Given the description of an element on the screen output the (x, y) to click on. 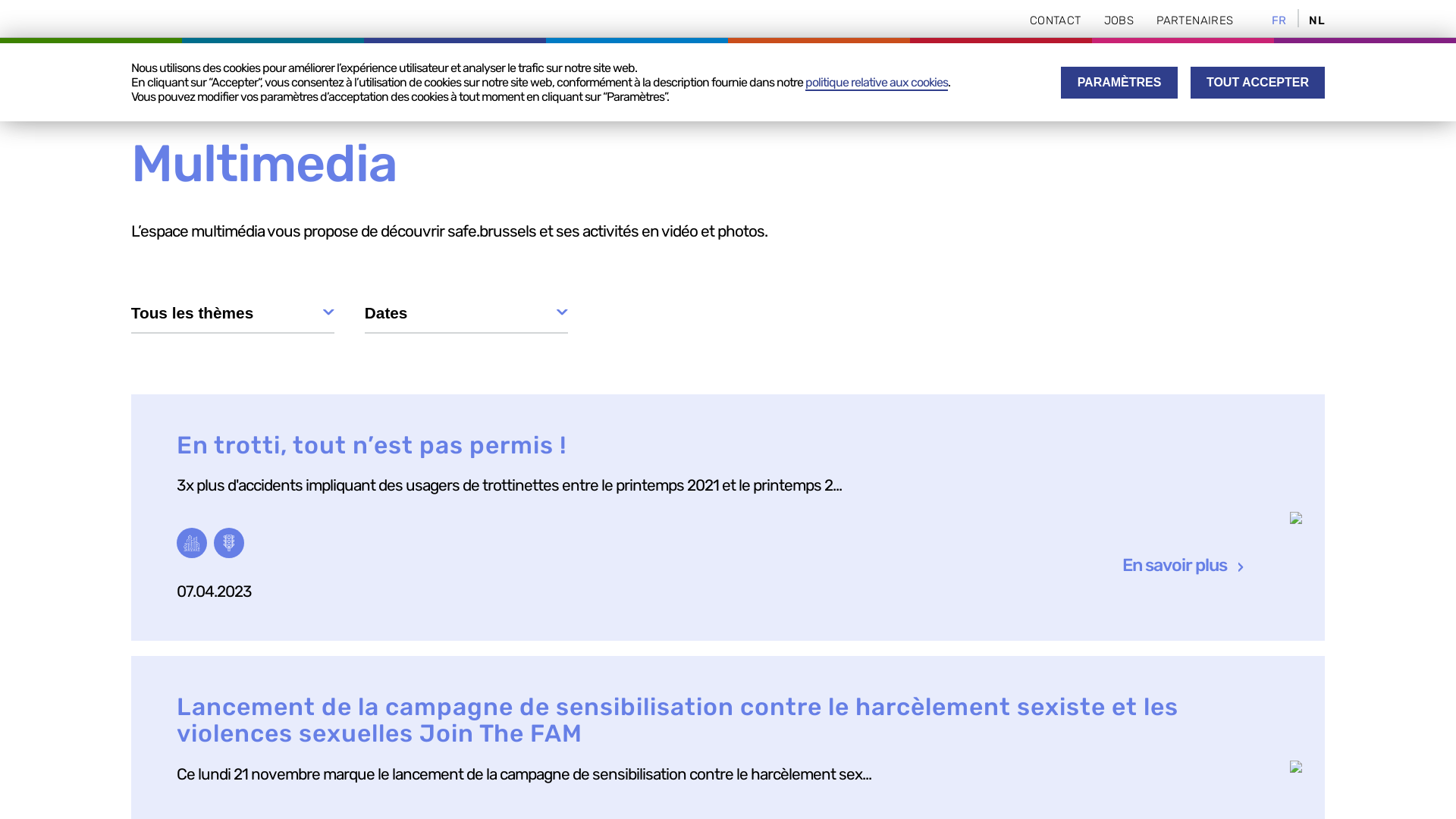
Lancer une recherche Element type: hover (1309, 70)
PARTENAIRES Element type: text (1194, 20)
NL Element type: text (1316, 20)
News Element type: text (1054, 72)
Publications et Statistiques Element type: text (907, 72)
TOUT ACCEPTER Element type: text (1257, 82)
Services aux citoyens Element type: text (1183, 72)
JOBS Element type: text (1119, 20)
Dates Element type: text (465, 317)
politique relative aux cookies Element type: text (876, 83)
FR Element type: text (1278, 20)
CONTACT Element type: text (1055, 20)
Gestion de crise Element type: text (727, 72)
